Given the description of an element on the screen output the (x, y) to click on. 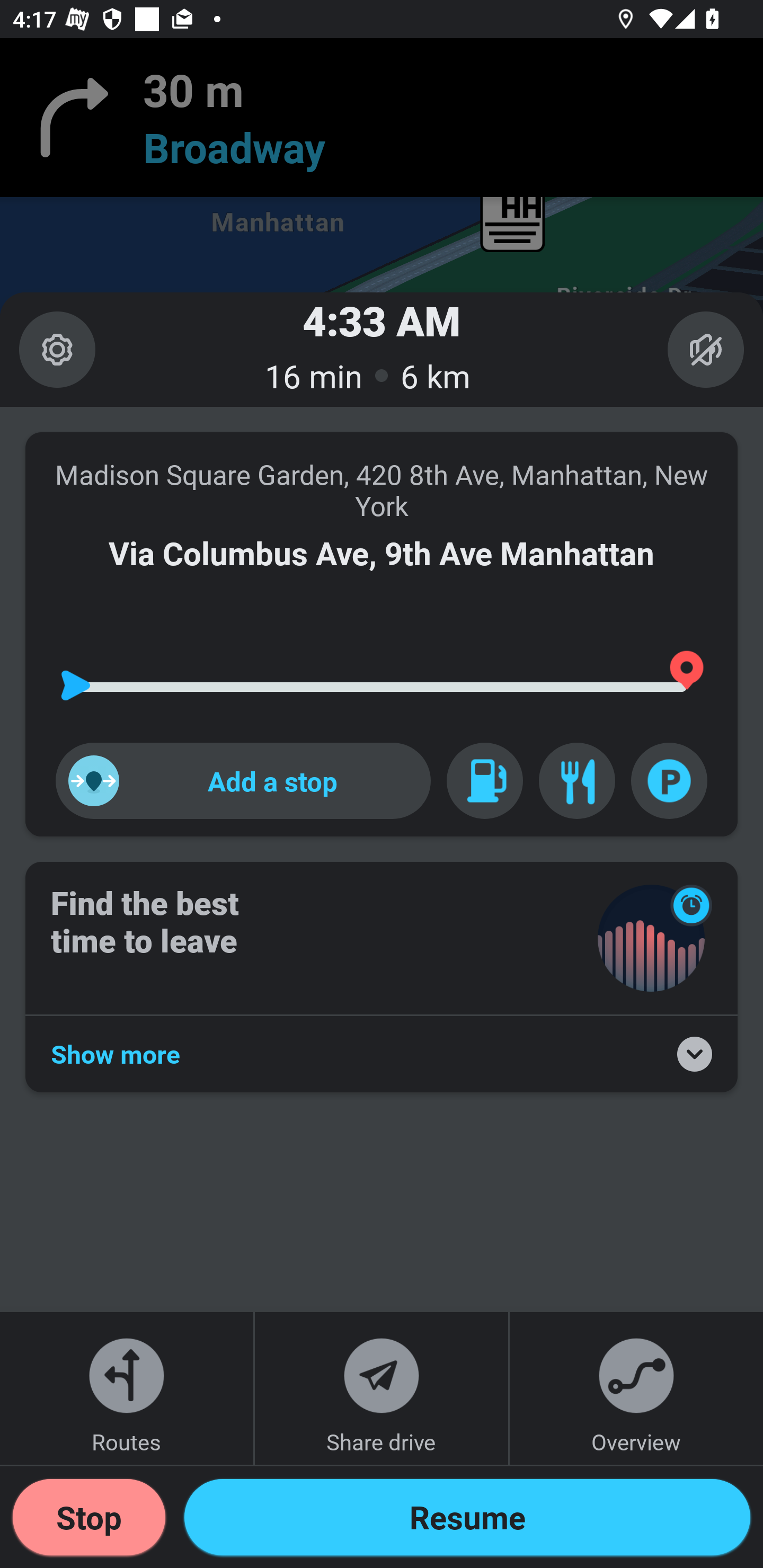
30 m Broadway (381, 117)
4:33 AM 16 min 6 km (381, 348)
Add a stop (243, 780)
Find the best time to leave Show more (381, 977)
Routes (126, 1388)
Share drive (381, 1388)
Overview (636, 1388)
Stop (88, 1516)
ETA_DRAWER_GO_BUTTON Resume (466, 1516)
